Given the description of an element on the screen output the (x, y) to click on. 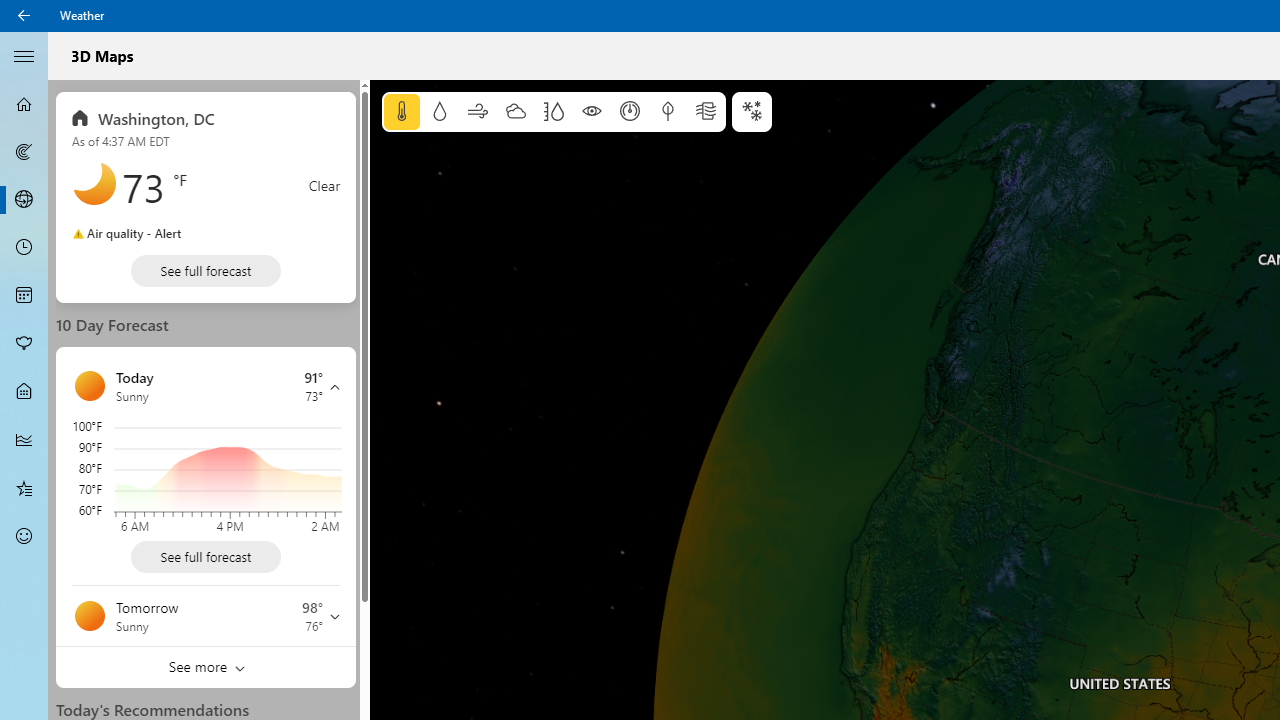
3D Maps - Not Selected (24, 199)
Monthly Forecast - Not Selected (24, 295)
Pollen - Not Selected (24, 343)
Pollen - Not Selected (24, 343)
Hourly Forecast - Not Selected (24, 247)
Maps - Not Selected (24, 151)
Life - Not Selected (24, 391)
